Given the description of an element on the screen output the (x, y) to click on. 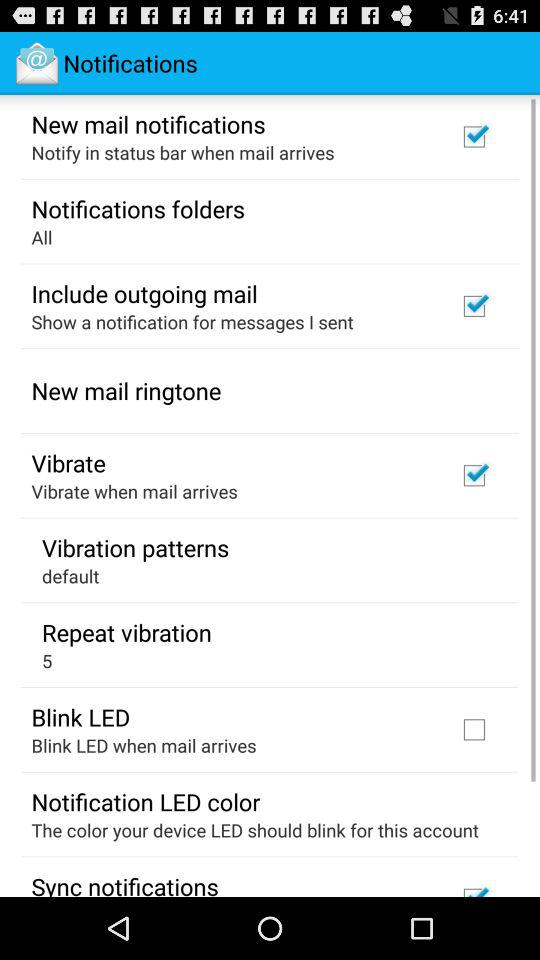
turn off notify in status (182, 151)
